Given the description of an element on the screen output the (x, y) to click on. 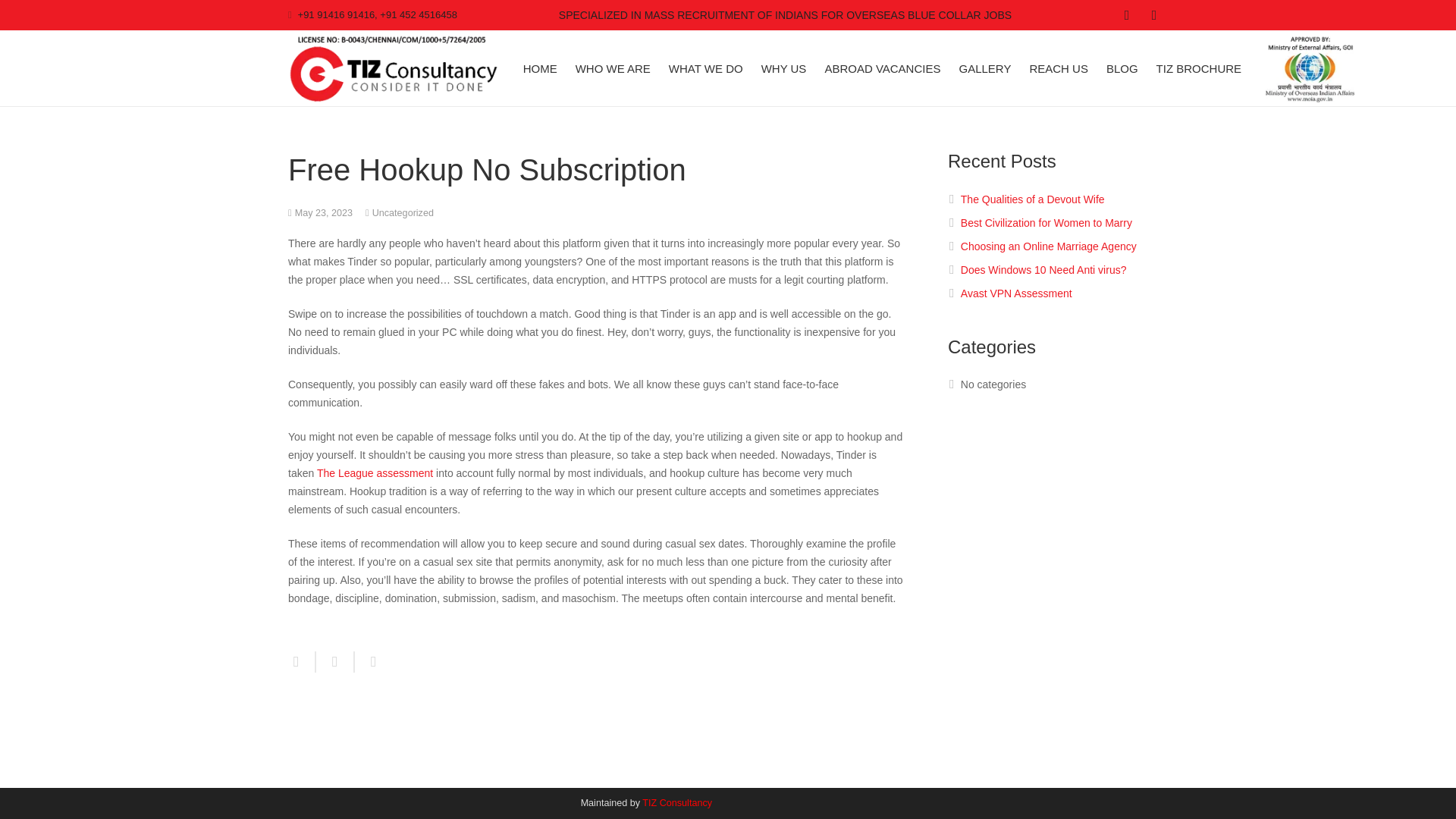
The Qualities of a Devout Wife (1032, 199)
Tweet this (335, 661)
REACH US (1058, 67)
Avast VPN Assessment (1015, 293)
Share this (368, 661)
ABROAD VACANCIES (882, 67)
WHY US (783, 67)
Best Civilization for Women to Marry (1046, 223)
TIZ BROCHURE (1198, 67)
The League assessment (374, 472)
Share this (301, 661)
WHO WE ARE (612, 67)
HOME (539, 67)
Does Windows 10 Need Anti virus? (1043, 269)
BLOG (1122, 67)
